Given the description of an element on the screen output the (x, y) to click on. 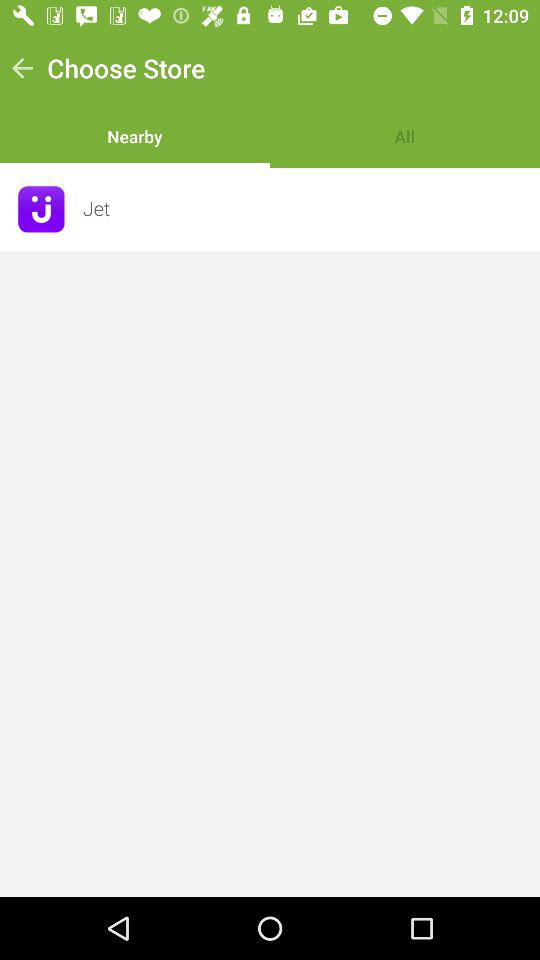
press item next to choose store icon (22, 67)
